Given the description of an element on the screen output the (x, y) to click on. 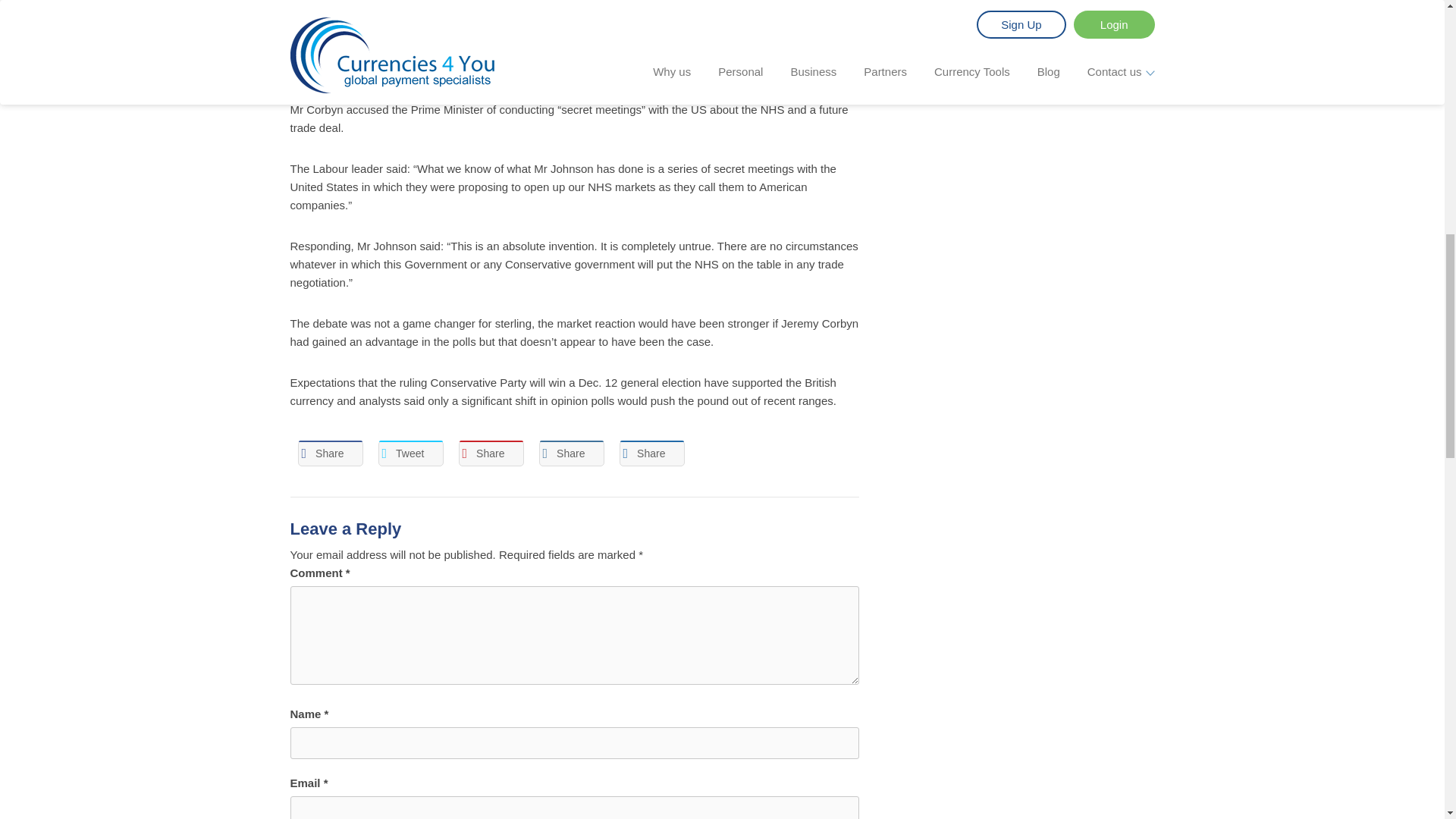
Share on Facebook (329, 453)
Share (329, 453)
Share (651, 453)
Share (490, 453)
Share on Digg (651, 453)
Tweet (409, 453)
Share on Pinterest (490, 453)
Share on LinkedIn (571, 453)
Share (571, 453)
Share on Twitter (409, 453)
